Given the description of an element on the screen output the (x, y) to click on. 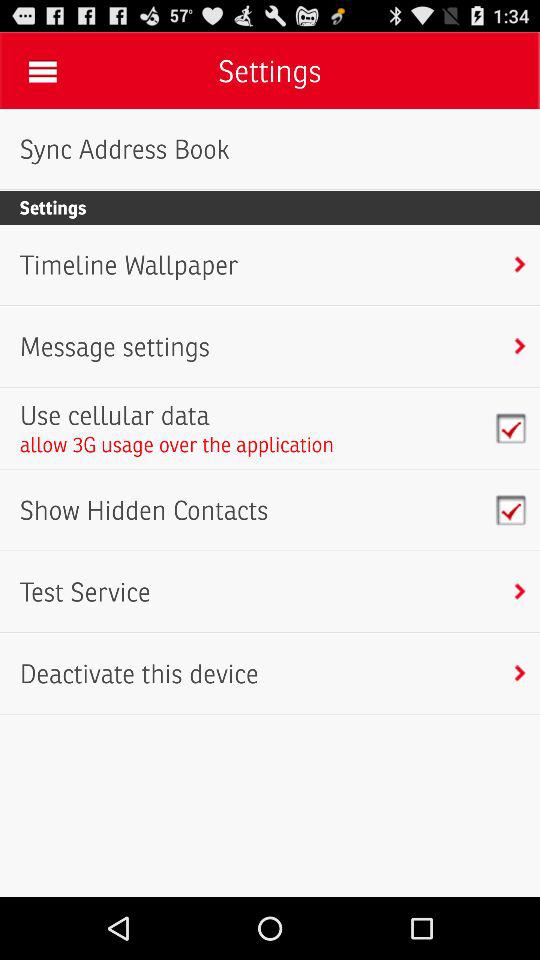
swipe to the show hidden contacts app (143, 510)
